Given the description of an element on the screen output the (x, y) to click on. 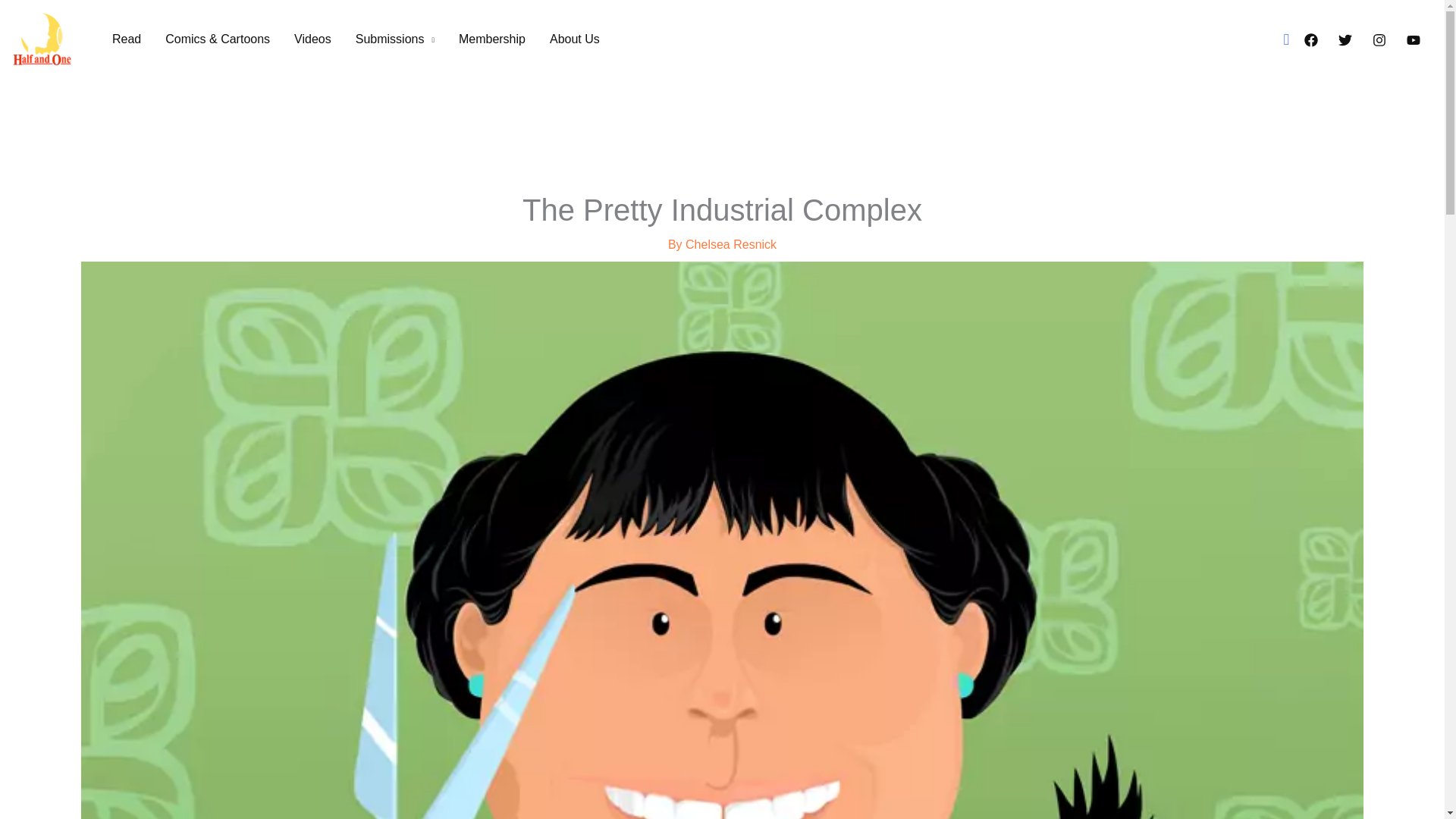
Read (126, 39)
View all posts by Chelsea Resnick (730, 244)
Membership (491, 39)
Videos (312, 39)
About Us (574, 39)
Chelsea Resnick (730, 244)
Submissions (394, 39)
